Given the description of an element on the screen output the (x, y) to click on. 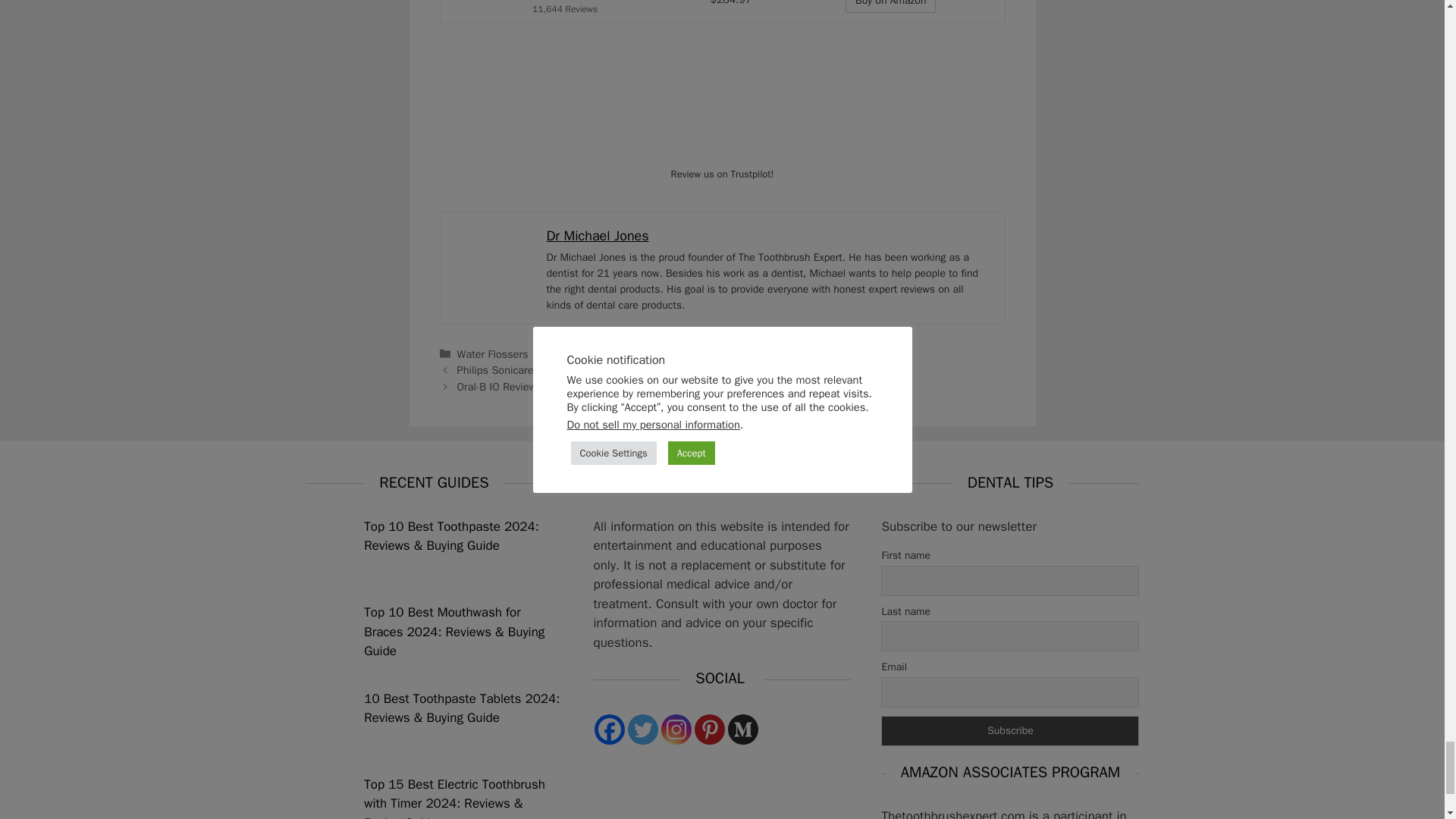
Subscribe (1009, 730)
